Given the description of an element on the screen output the (x, y) to click on. 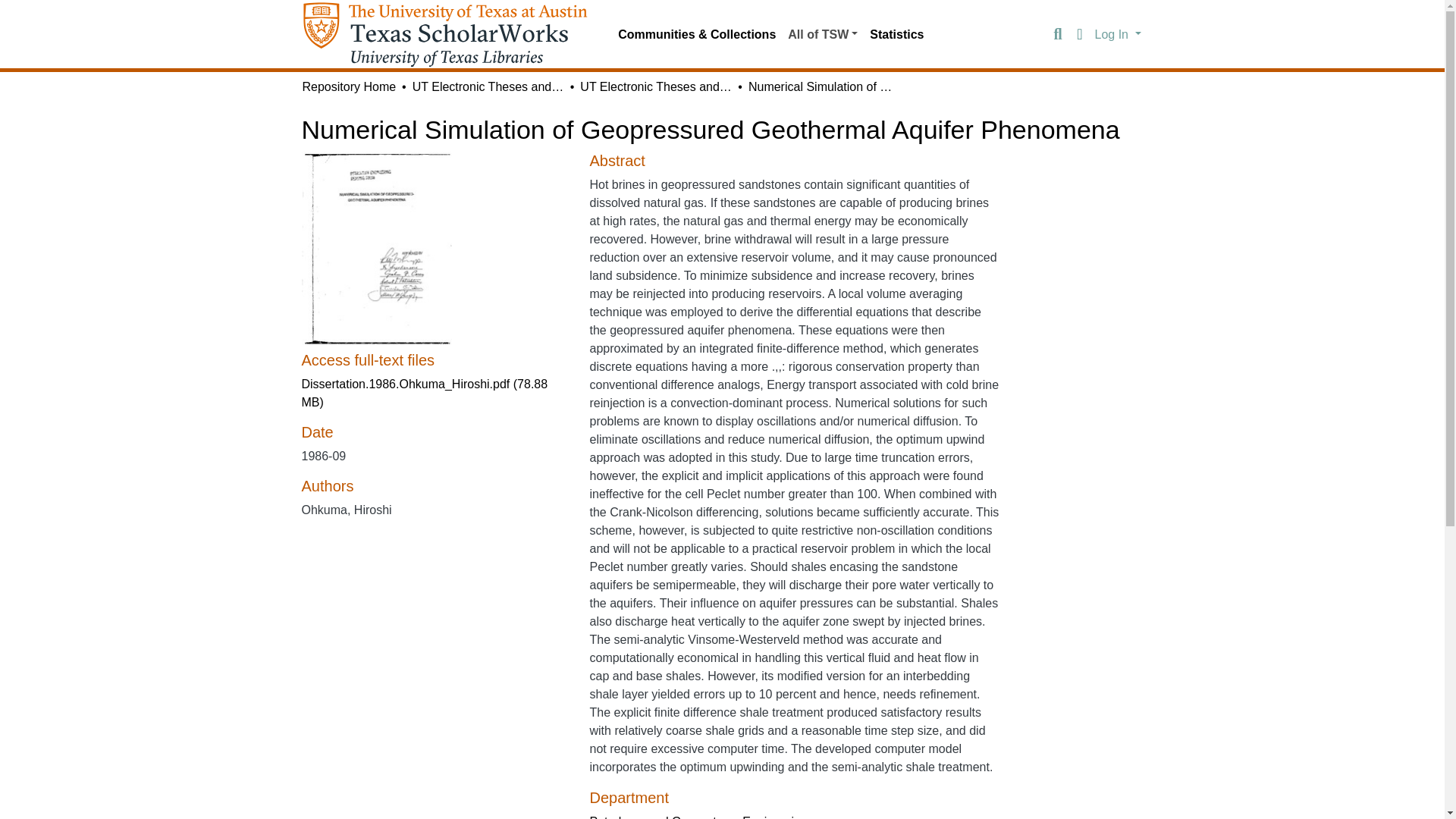
All of TSW (822, 34)
Language switch (1079, 34)
Log In (1117, 33)
Statistics (896, 34)
UT Electronic Theses and Dissertations (488, 86)
UT Electronic Theses and Dissertations (655, 86)
Search (1057, 34)
Repository Home (348, 86)
Statistics (896, 34)
Petroleum and Geosystems Engineering (697, 816)
